Given the description of an element on the screen output the (x, y) to click on. 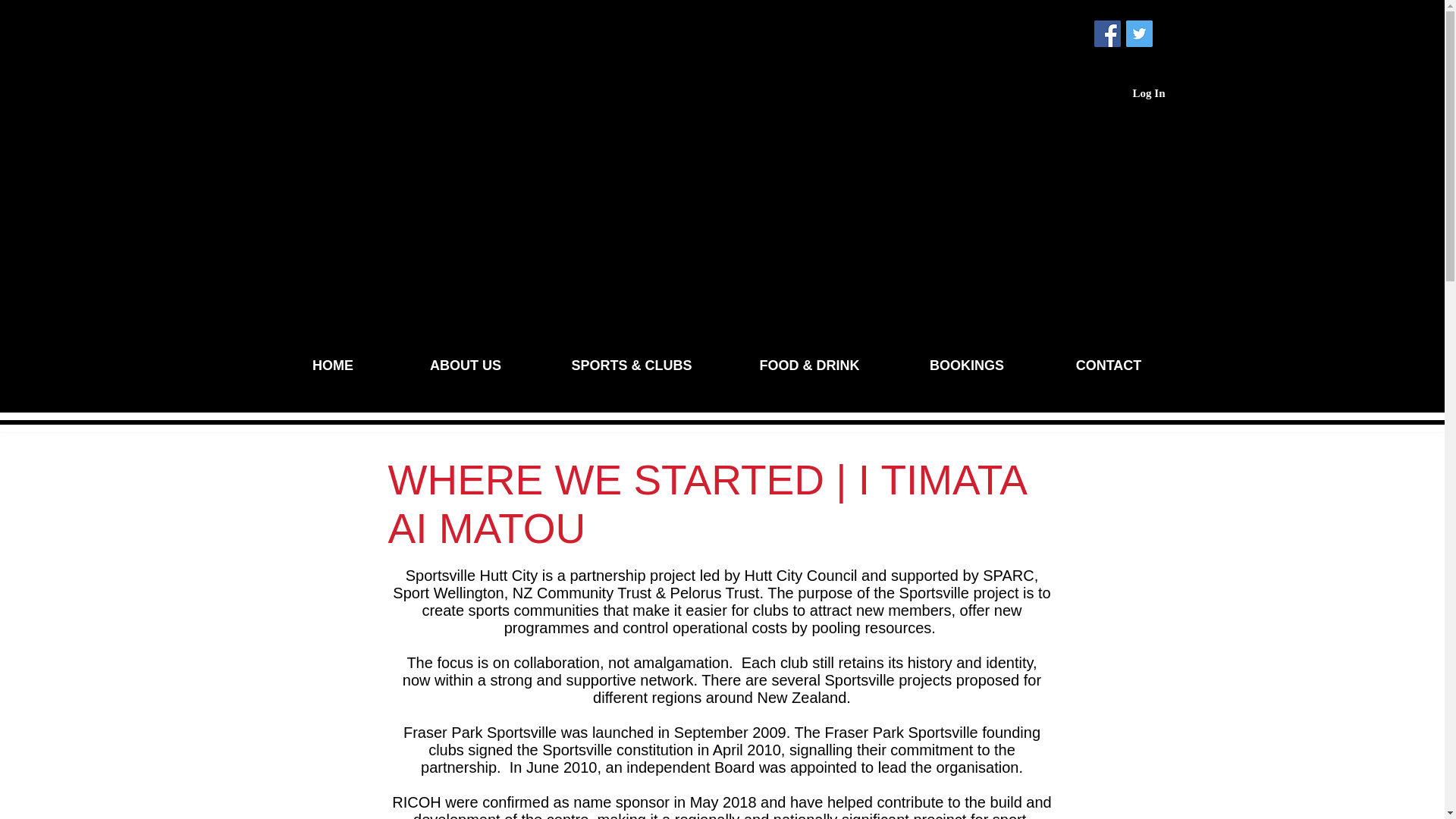
HOME (333, 365)
Log In (1149, 93)
BOOKINGS (966, 365)
CONTACT (1109, 365)
